Given the description of an element on the screen output the (x, y) to click on. 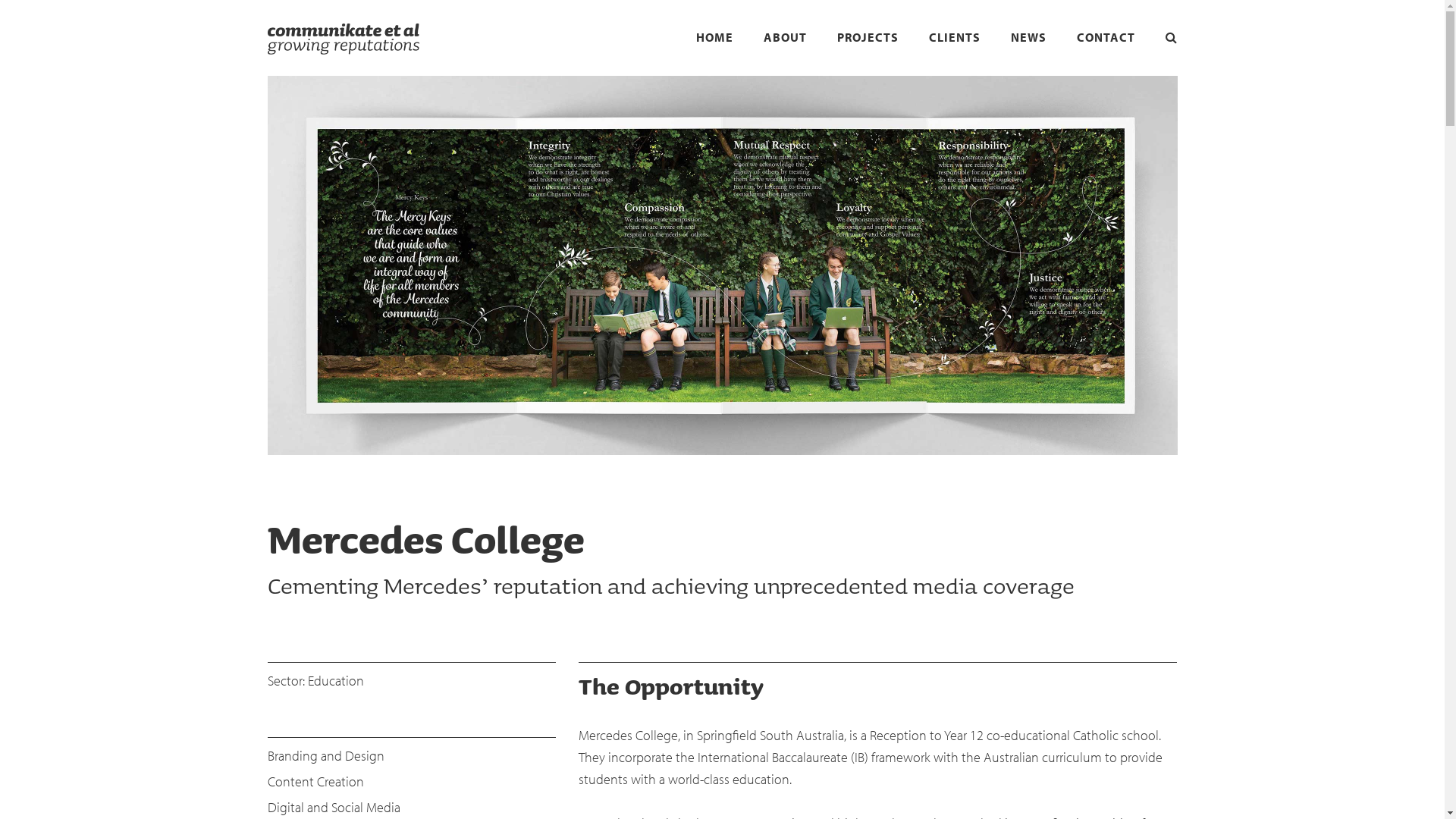
CLIENTS Element type: text (953, 44)
ABOUT Element type: text (784, 44)
PROJECTS Element type: text (867, 44)
CONTACT Element type: text (1105, 44)
HOME Element type: text (714, 44)
NEWS Element type: text (1027, 44)
